Given the description of an element on the screen output the (x, y) to click on. 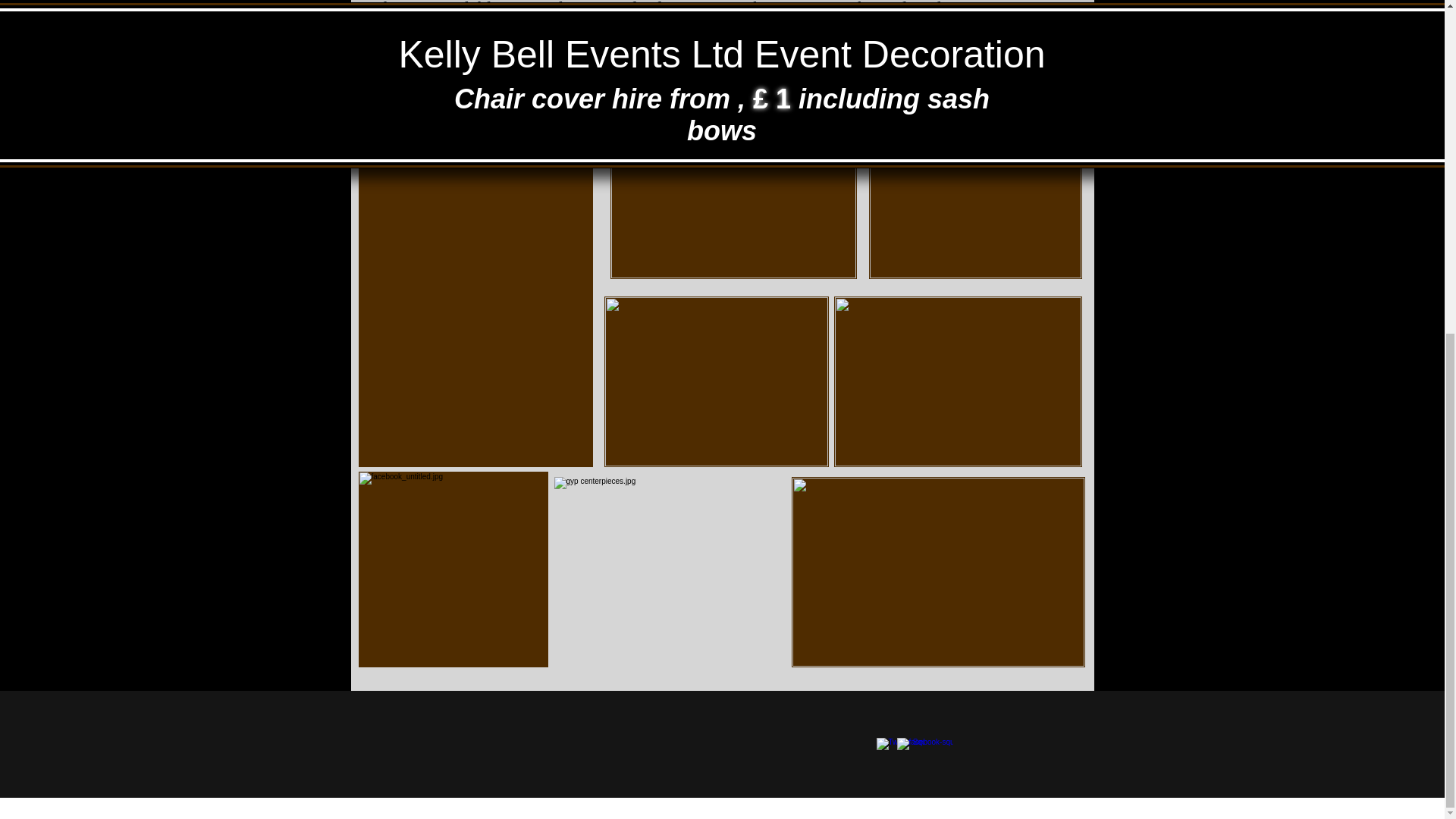
chairs.jpg (733, 171)
Twitter Tweet (705, 705)
Facebook Like (976, 713)
